Given the description of an element on the screen output the (x, y) to click on. 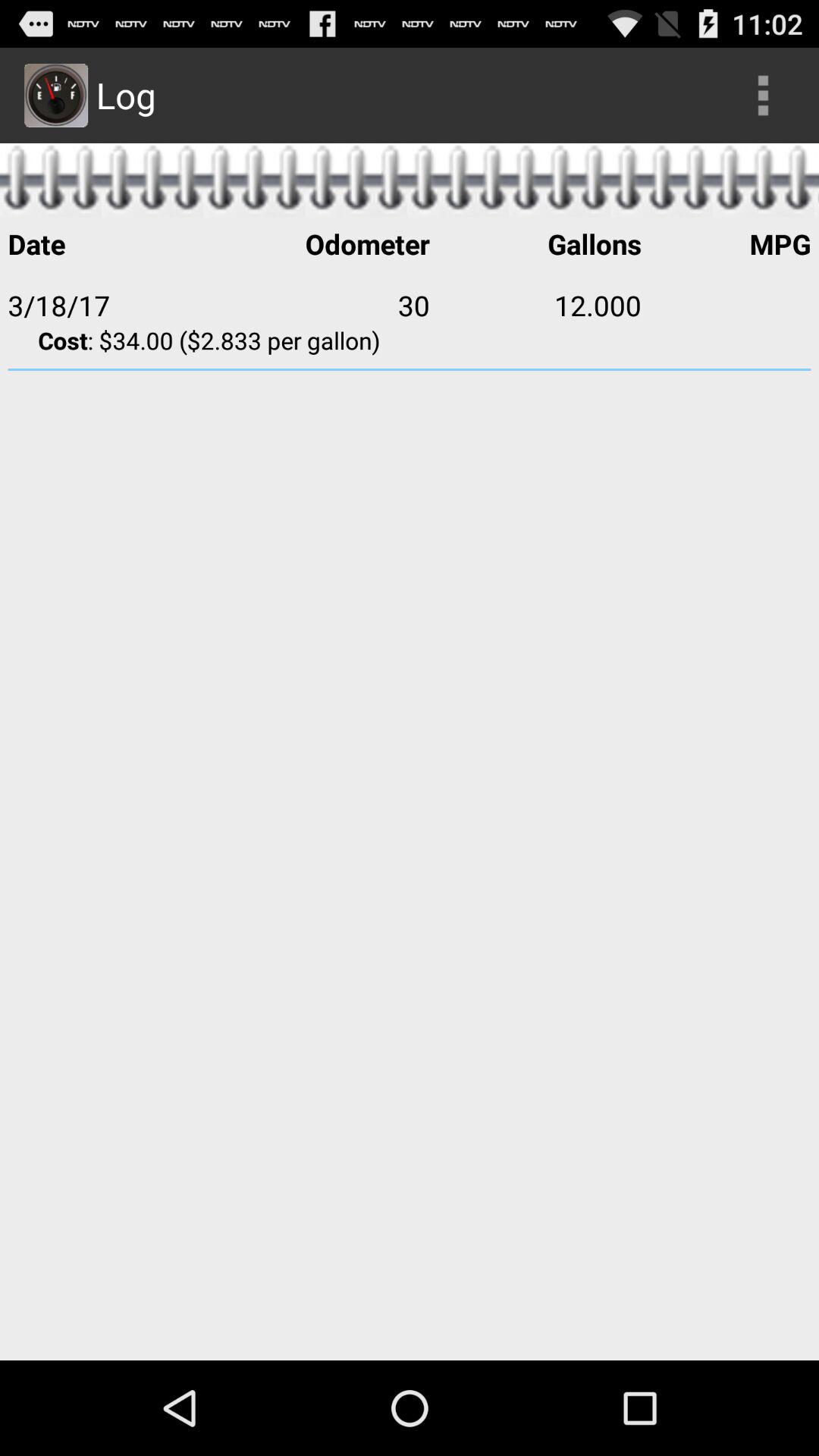
click icon above the cost 34 00 item (535, 305)
